Given the description of an element on the screen output the (x, y) to click on. 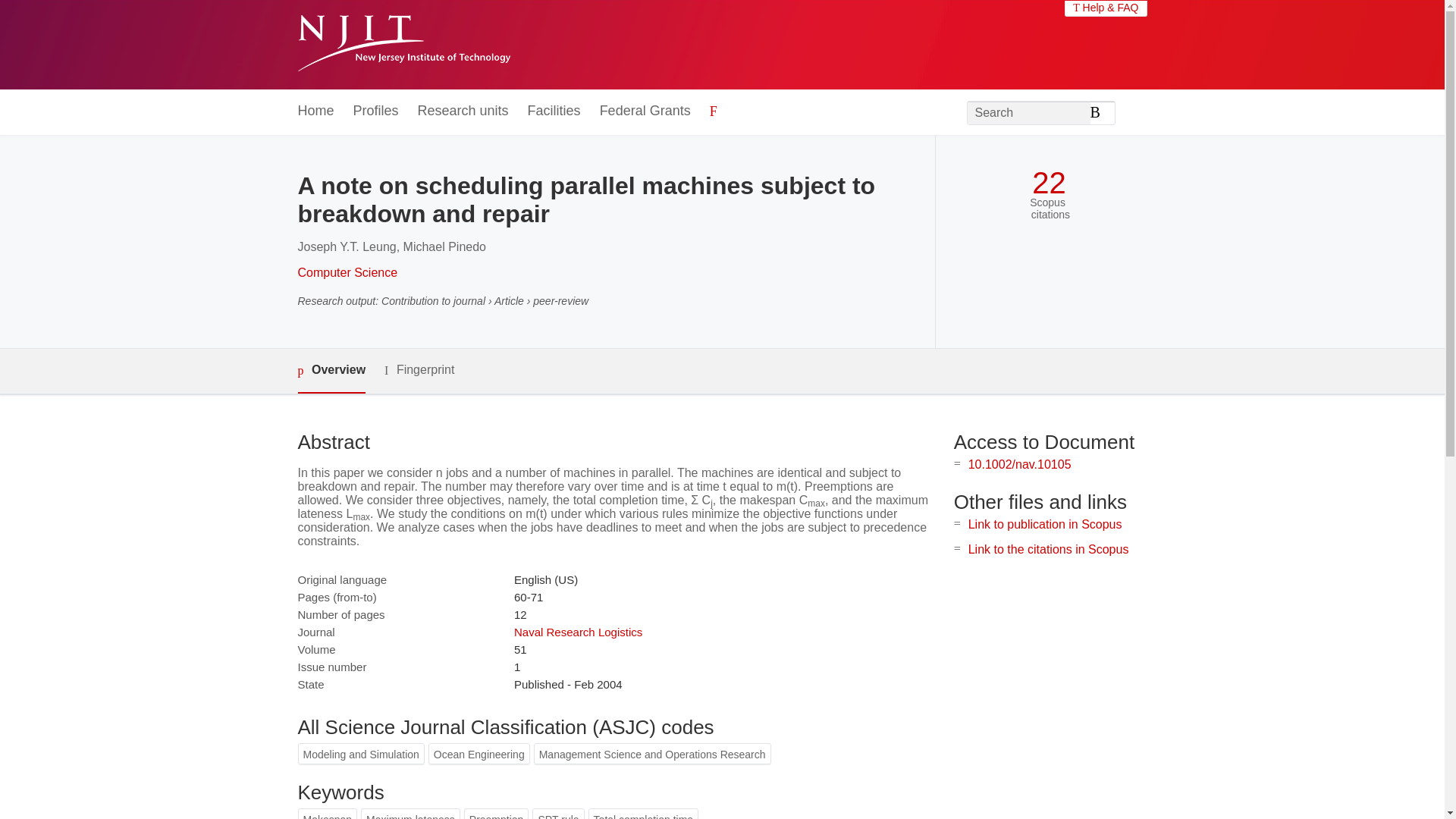
Overview (331, 370)
New Jersey Institute of Technology Home (403, 44)
22 (1048, 182)
Fingerprint (419, 370)
Computer Science (347, 272)
Research units (462, 111)
Link to the citations in Scopus (1048, 549)
Federal Grants (644, 111)
Profiles (375, 111)
